Given the description of an element on the screen output the (x, y) to click on. 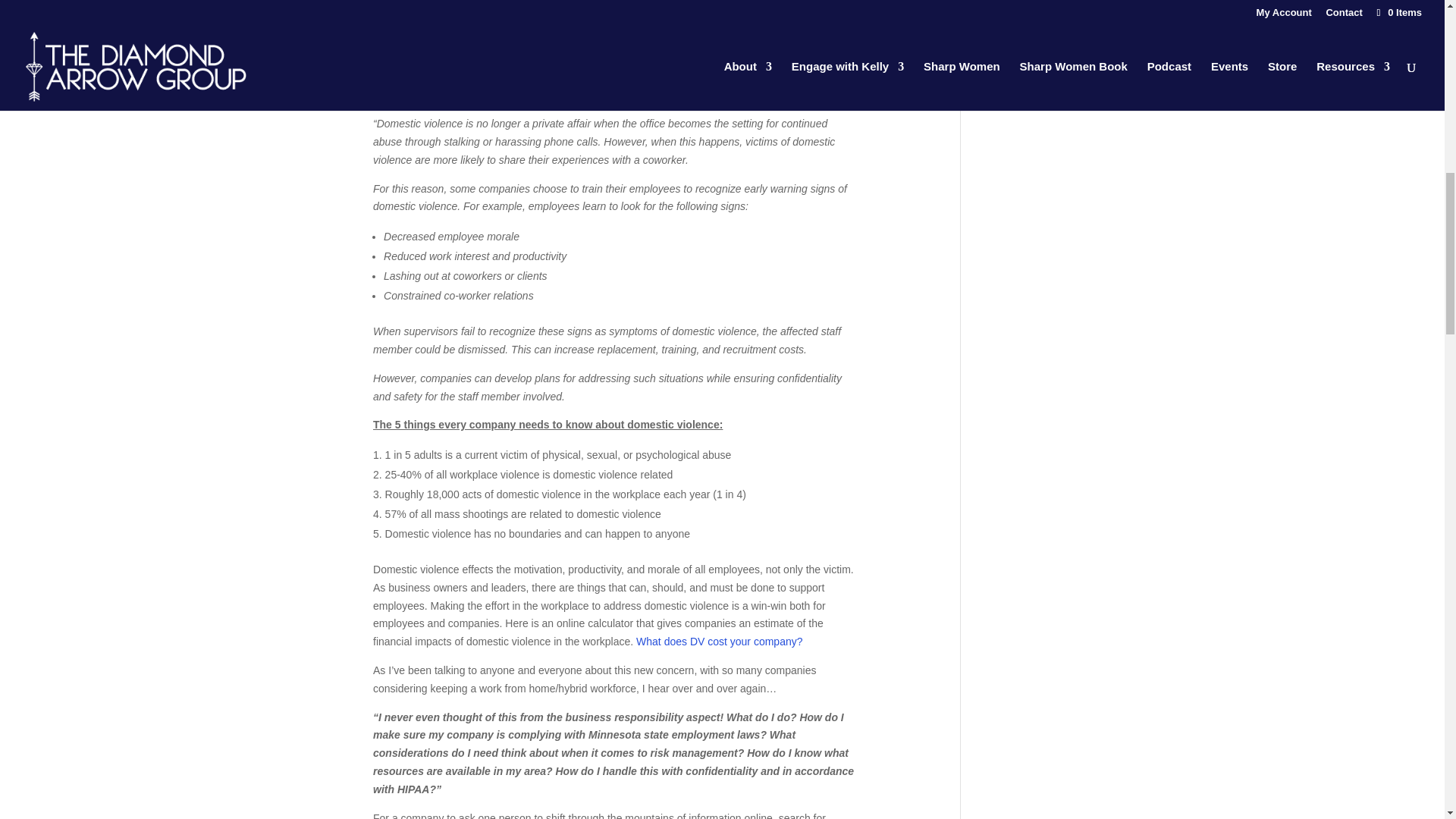
Steve Crimando (754, 11)
What does DV cost your company? (719, 641)
Domestic Violence and Its Effects on the Workplace (566, 94)
